Given the description of an element on the screen output the (x, y) to click on. 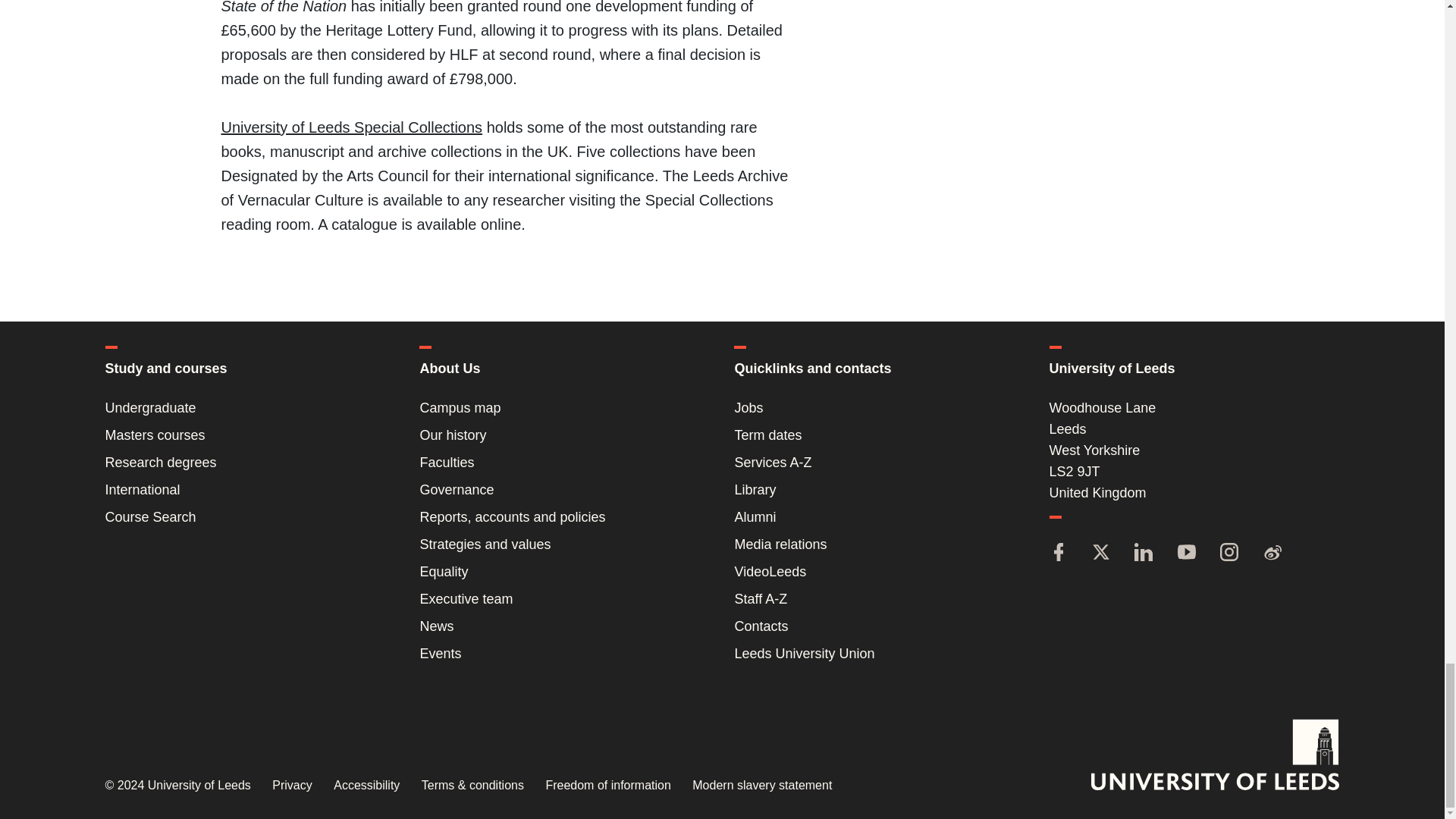
Go to Modern slavery statement page (762, 784)
Go to Accessibility page (365, 784)
Go to Freedom of information page (606, 784)
Go to Privacy page (291, 784)
